Given the description of an element on the screen output the (x, y) to click on. 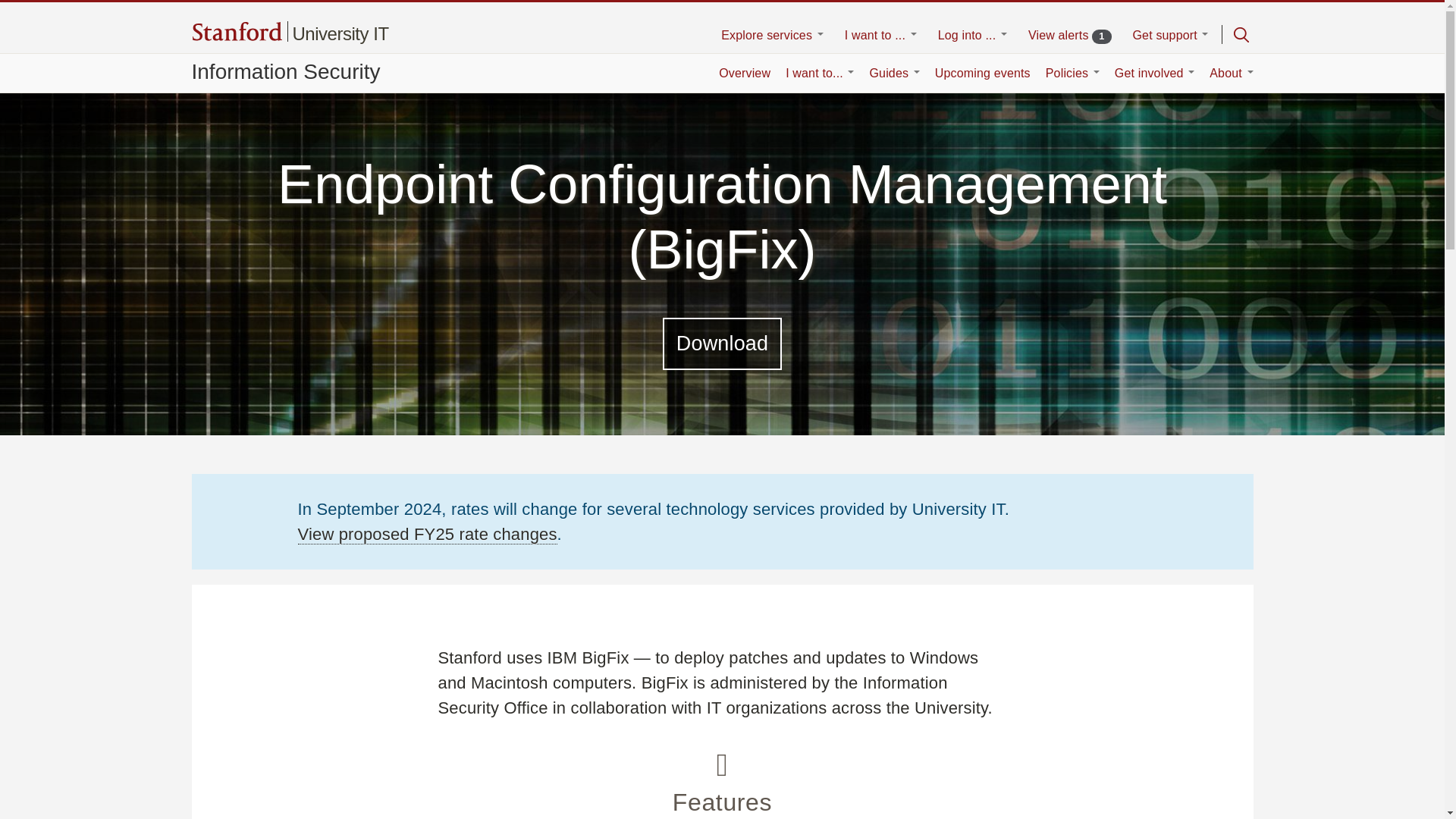
University IT (340, 33)
Explore services (772, 36)
Log into ... (972, 36)
Information Security (285, 71)
Home (340, 33)
Get support (1170, 36)
I want to ... (880, 36)
Home (236, 33)
Open Search (1241, 34)
